Given the description of an element on the screen output the (x, y) to click on. 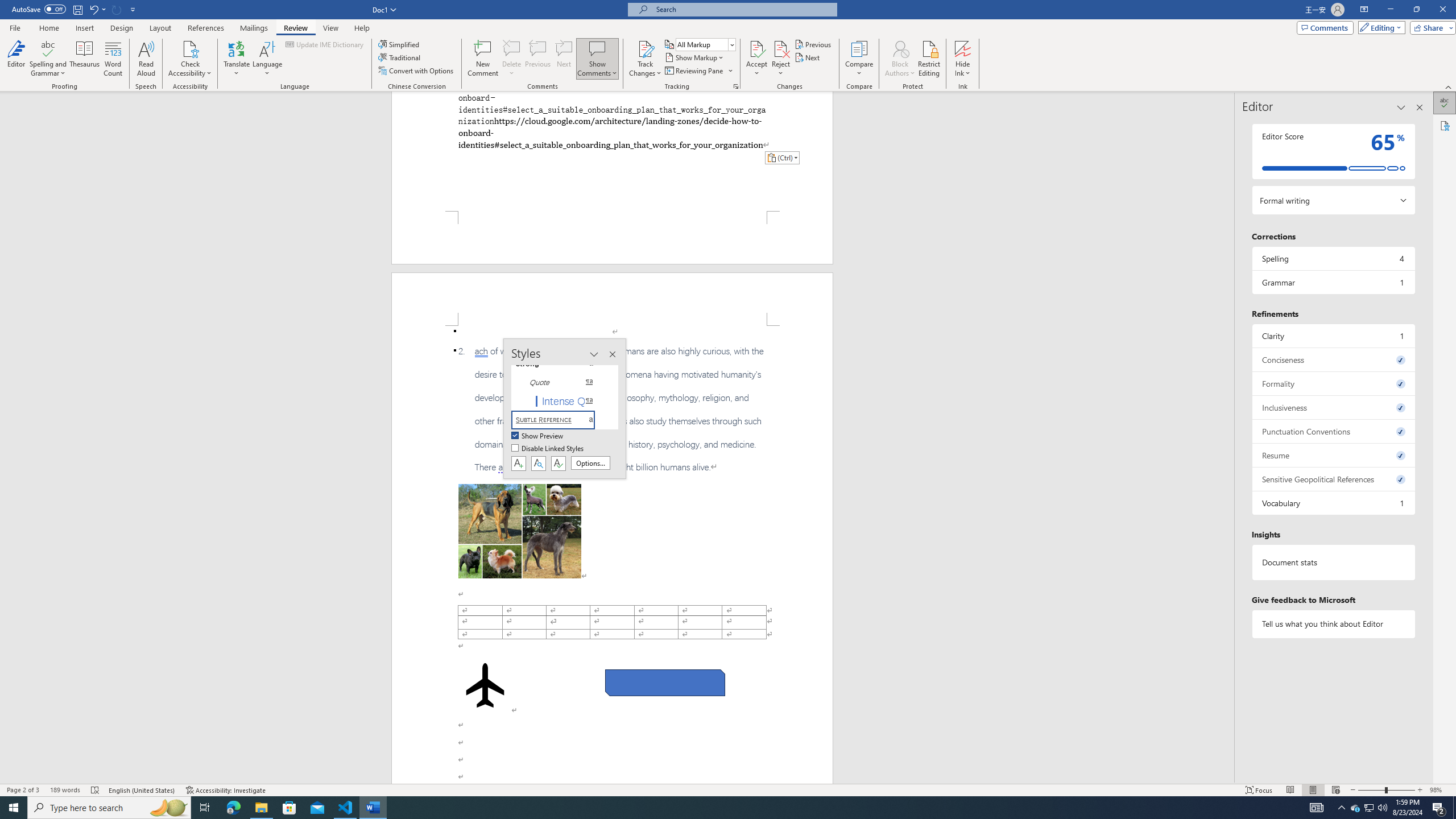
Page 1 content (611, 151)
Disable Linked Styles (548, 448)
Accept (756, 58)
Action: Paste alternatives (781, 157)
Show Comments (597, 58)
Subtle Reference (559, 419)
Simplified (400, 44)
